Given the description of an element on the screen output the (x, y) to click on. 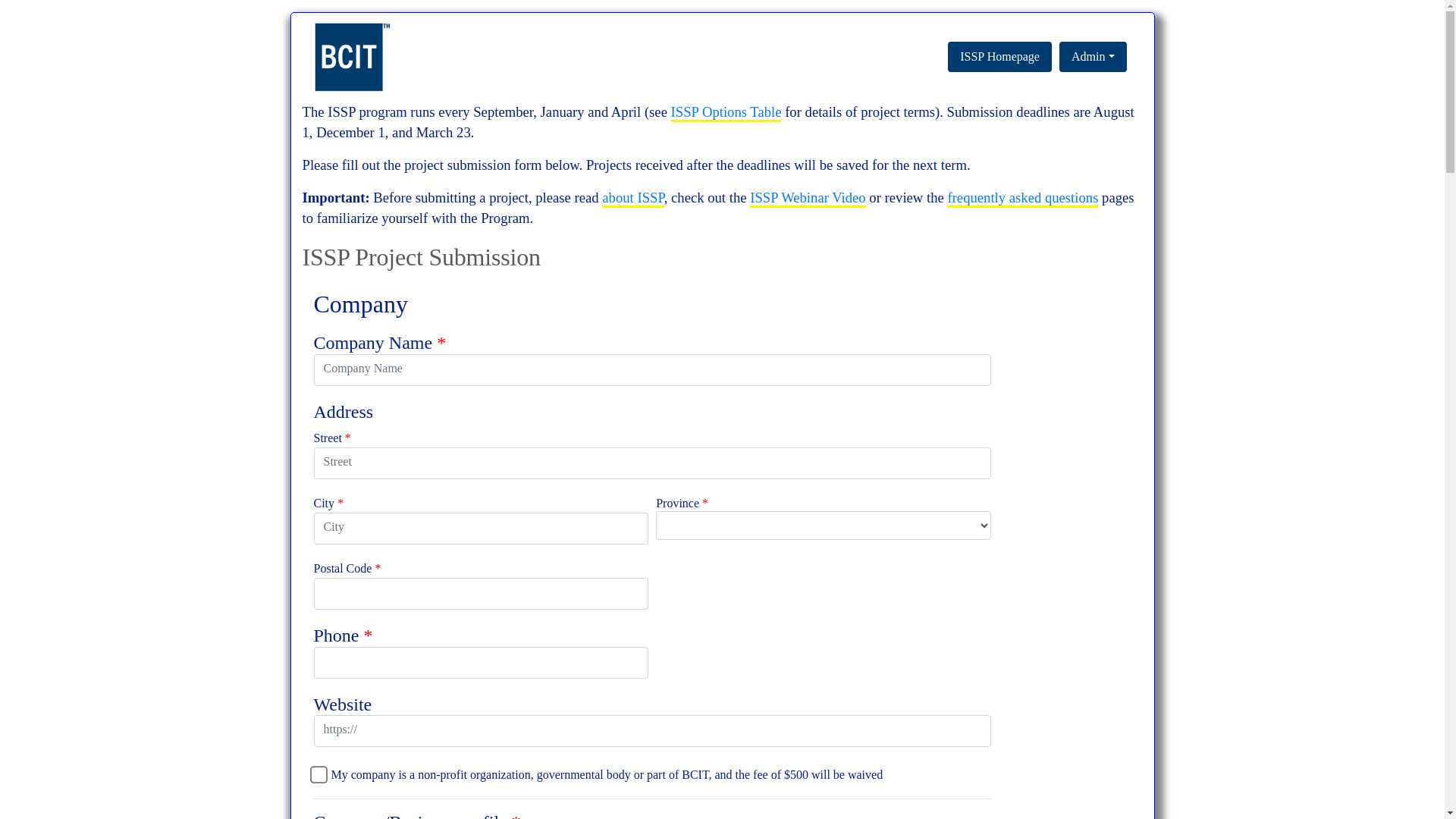
ISSP Homepage Element type: text (999, 56)
Admin Element type: text (1092, 56)
ISSP Webinar Video Element type: text (807, 198)
ISSP Options Table Element type: text (726, 112)
frequently asked questions Element type: text (1022, 198)
about ISSP Element type: text (632, 198)
